Given the description of an element on the screen output the (x, y) to click on. 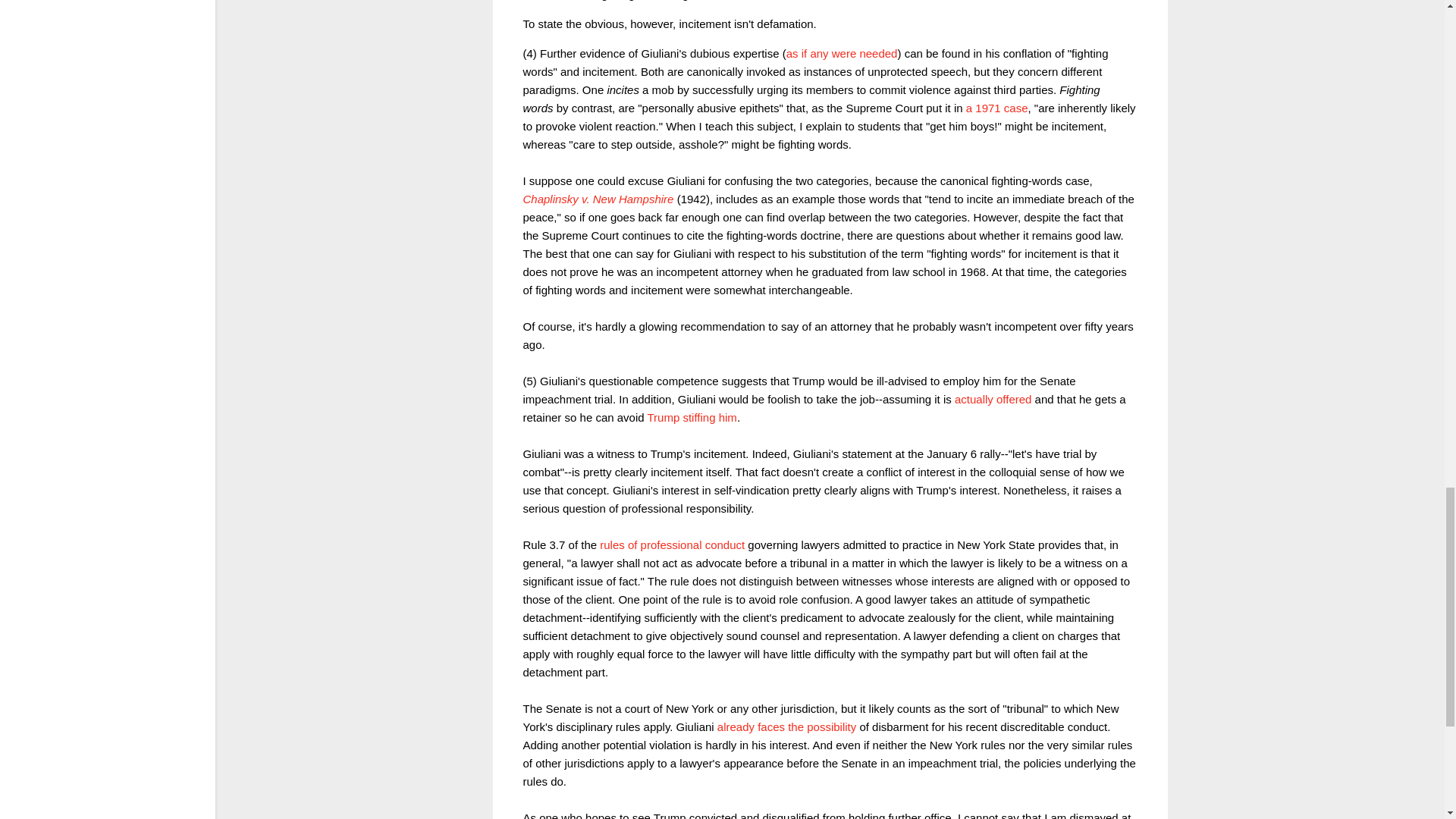
as if any were needed (842, 52)
Trump stiffing him (691, 417)
actually offered (992, 399)
rules of professional conduct (671, 544)
Chaplinsky v. New Hampshire (598, 198)
already faces the possibility (786, 726)
a 1971 case (996, 107)
